Given the description of an element on the screen output the (x, y) to click on. 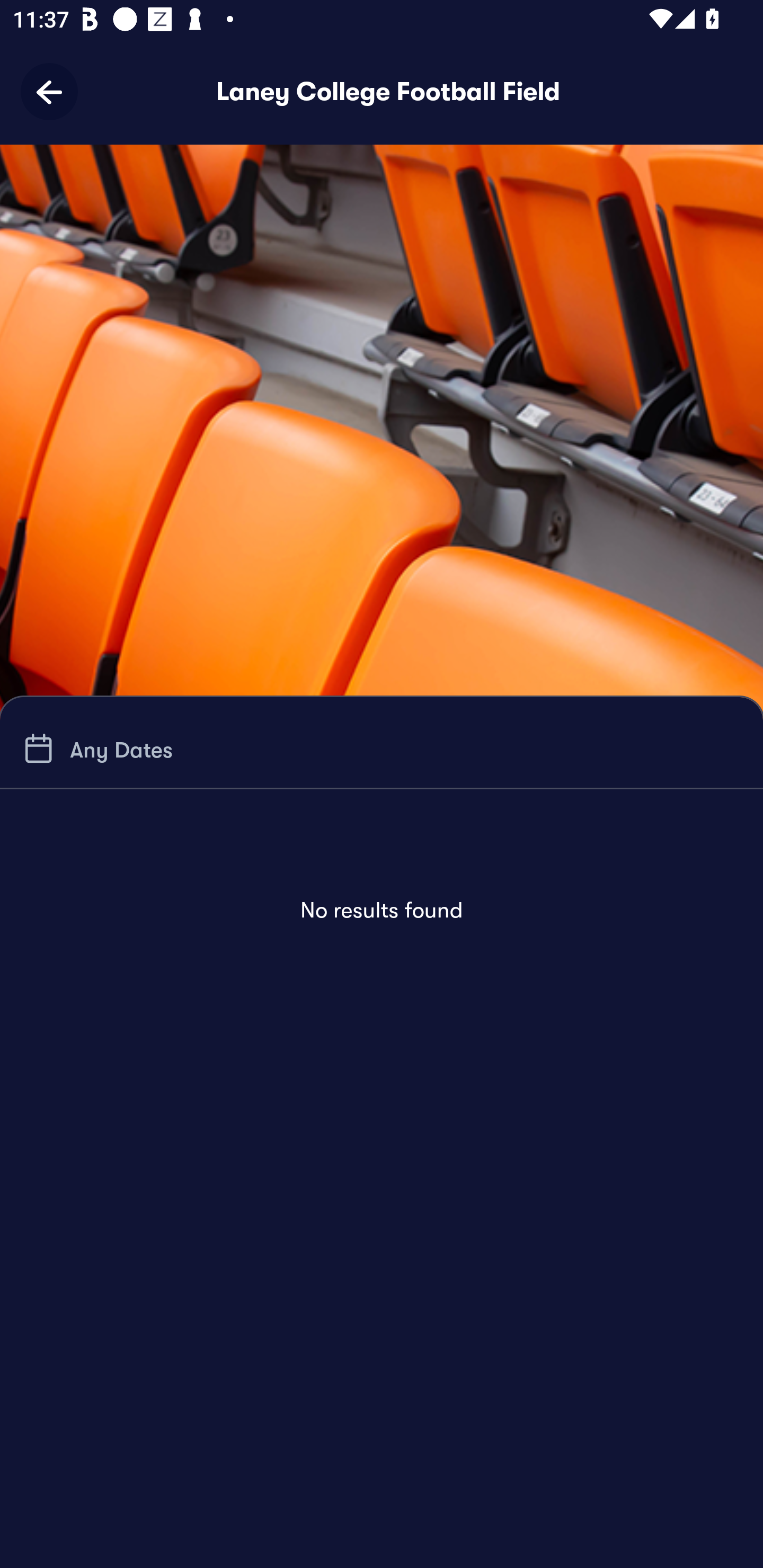
Any Dates (95, 749)
